Given the description of an element on the screen output the (x, y) to click on. 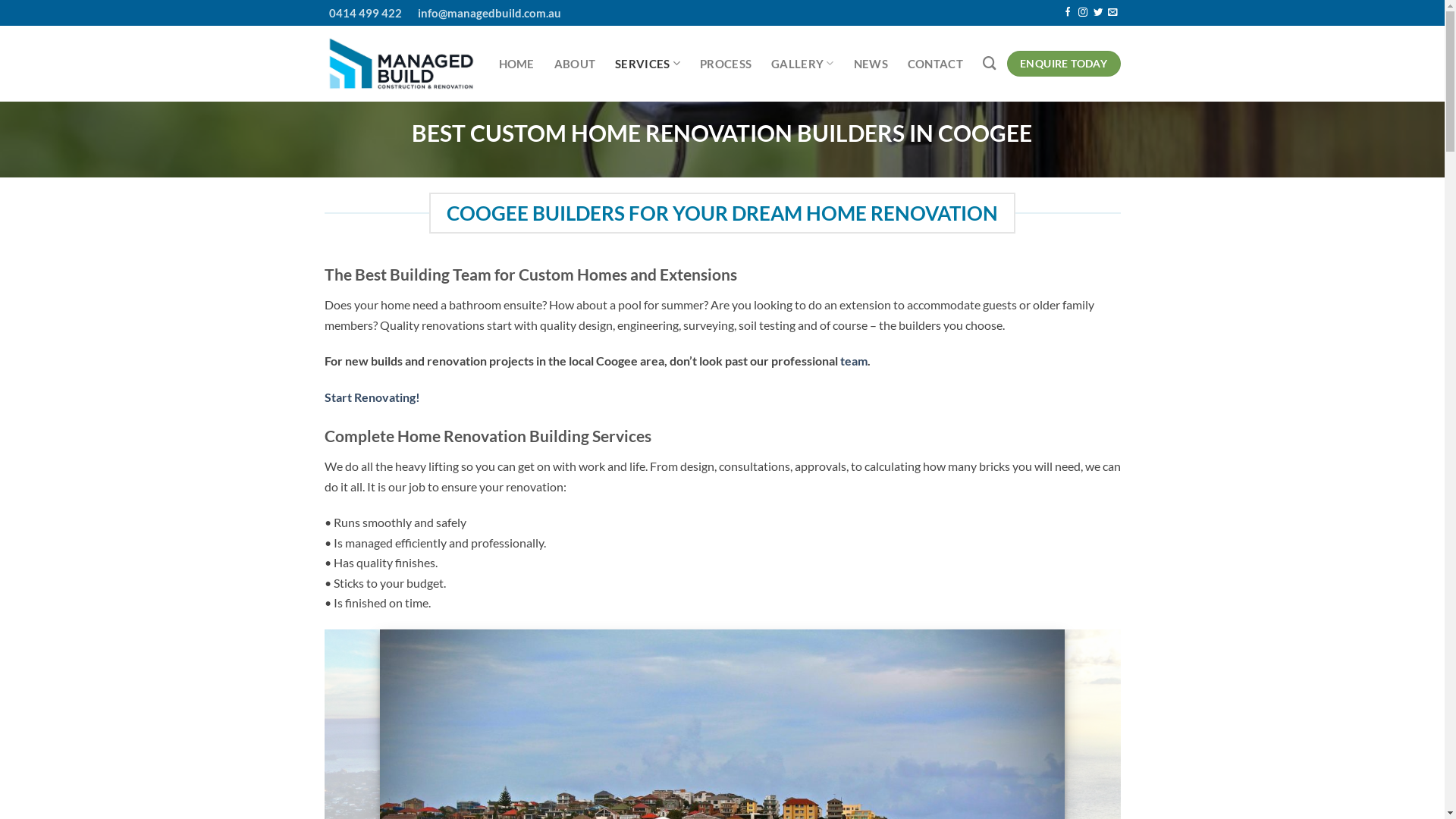
CONTACT Element type: text (935, 63)
PROCESS Element type: text (725, 63)
NEWS Element type: text (870, 63)
Managed Build - Renovations | New Builds | Extensions Element type: hover (400, 63)
GALLERY Element type: text (802, 63)
ENQUIRE TODAY Element type: text (1063, 63)
HOME Element type: text (516, 63)
ABOUT Element type: text (574, 63)
team Element type: text (853, 360)
SERVICES Element type: text (647, 63)
Start Renovating! Element type: text (372, 396)
  0414 499 422 Element type: text (362, 12)
  info@managedbuild.com.au Element type: text (481, 12)
